Given the description of an element on the screen output the (x, y) to click on. 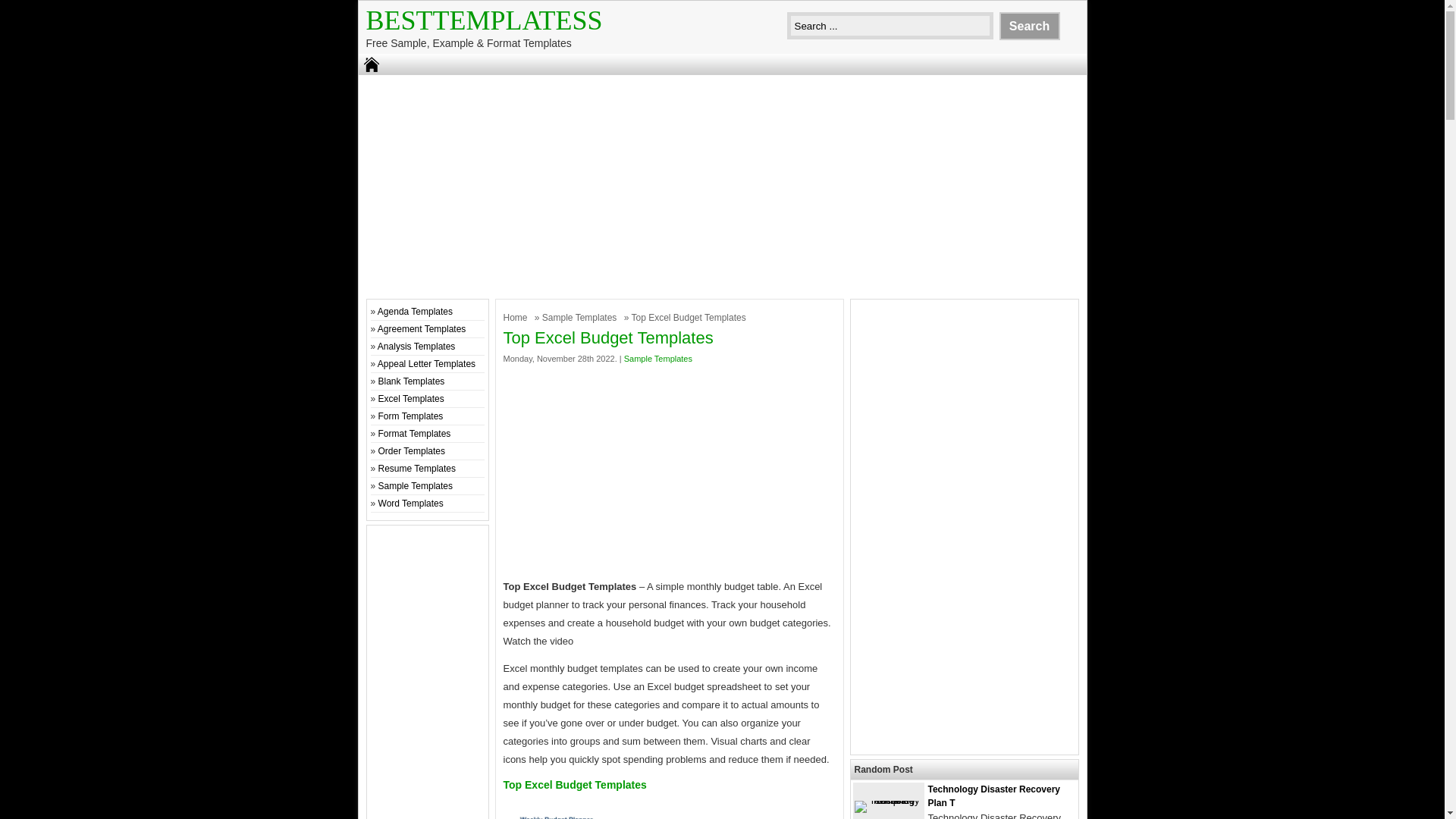
BestTemplatess (483, 20)
Top Excel Budget Templates (669, 806)
Sample Templates (581, 317)
Blank Templates (411, 380)
Word Templates (411, 502)
Agenda Templates (414, 311)
Appeal Letter Templates (426, 363)
Analysis Templates (416, 346)
Order Templates (411, 450)
Resume Templates (417, 468)
Sample Templates (415, 485)
Agreement Templates (421, 328)
Format Templates (414, 433)
Search (1028, 26)
Sample Templates (658, 358)
